Given the description of an element on the screen output the (x, y) to click on. 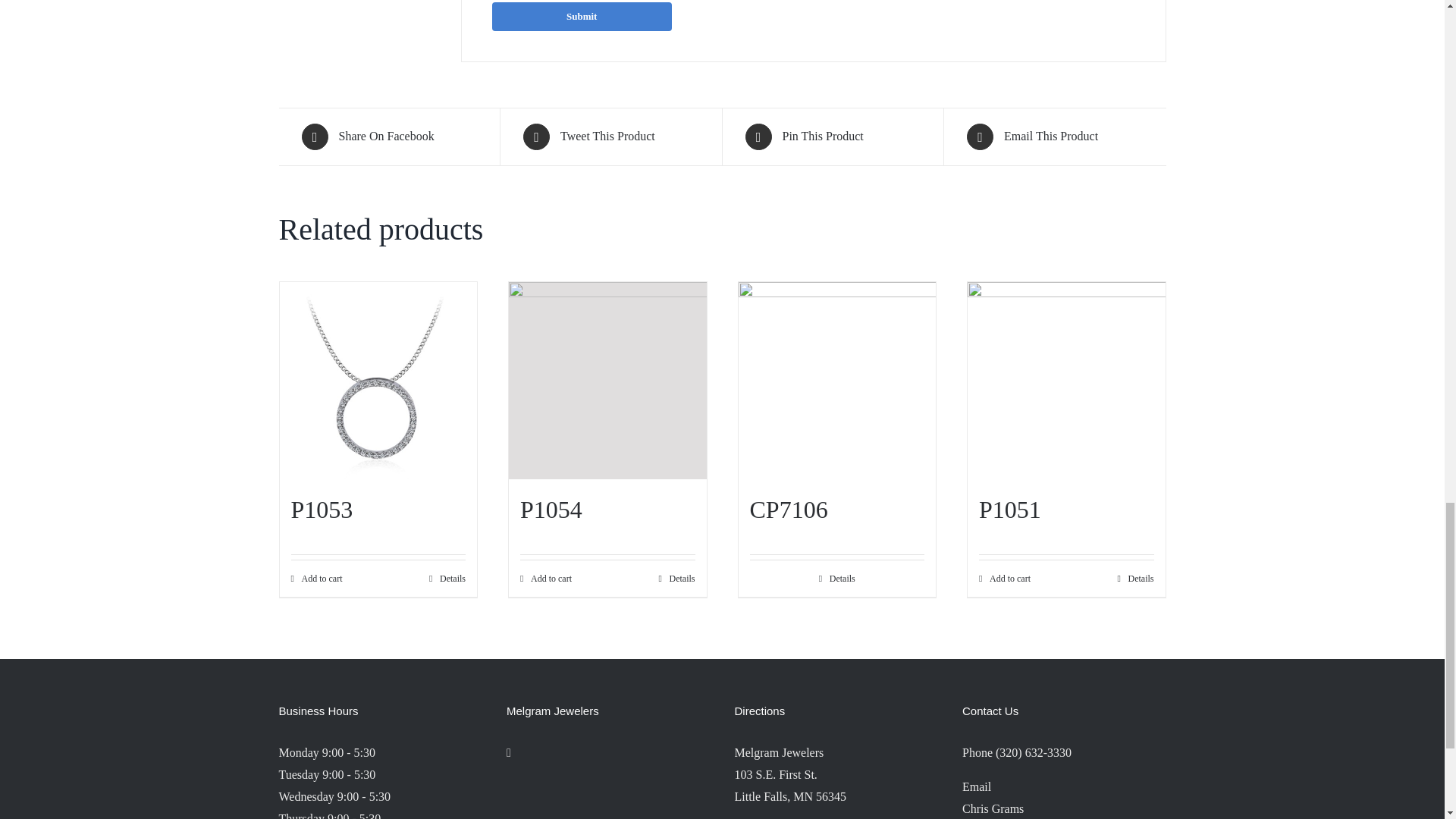
Email This Product (1054, 136)
Submit (581, 16)
P1054 (550, 509)
P1053 (322, 509)
Tweet This Product (610, 136)
Share On Facebook (389, 136)
Submit (581, 16)
Add to cart (545, 578)
Details (676, 578)
Pin This Product (832, 136)
Details (447, 578)
Add to cart (316, 578)
